Given the description of an element on the screen output the (x, y) to click on. 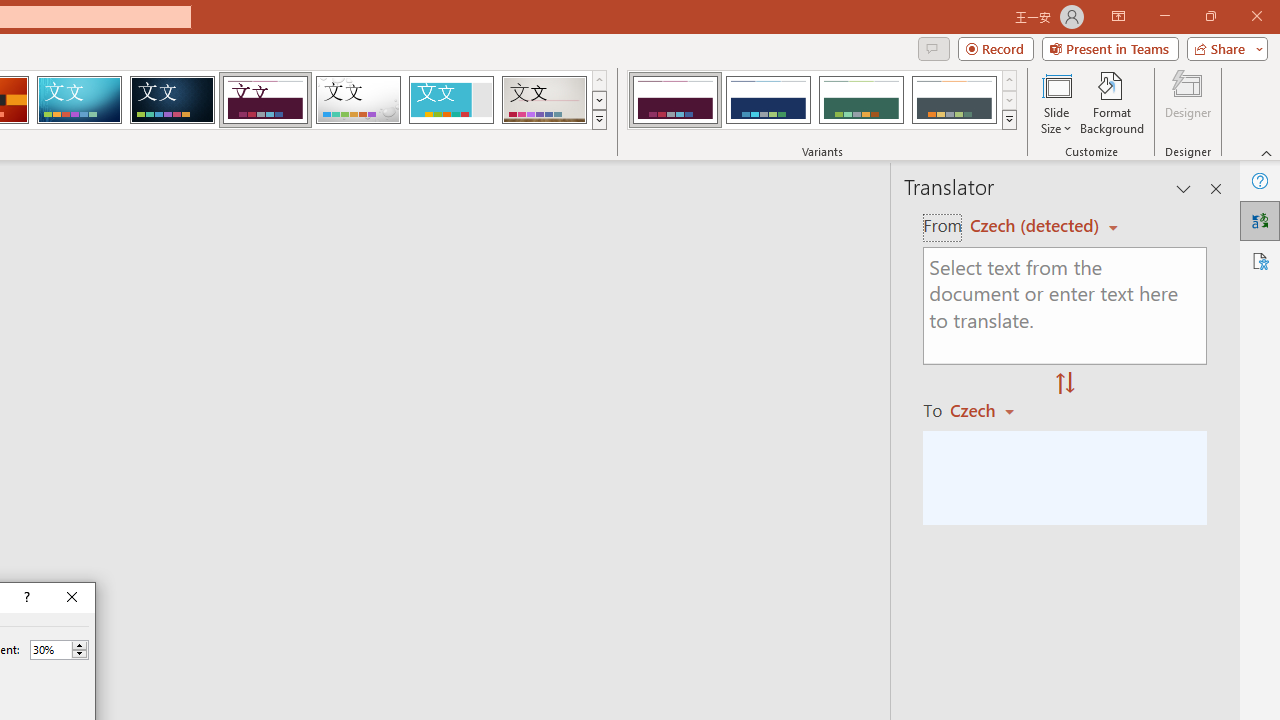
Damask (171, 100)
Dividend Variant 3 (861, 100)
Droplet (358, 100)
Dividend Variant 4 (953, 100)
Variants (1009, 120)
